Given the description of an element on the screen output the (x, y) to click on. 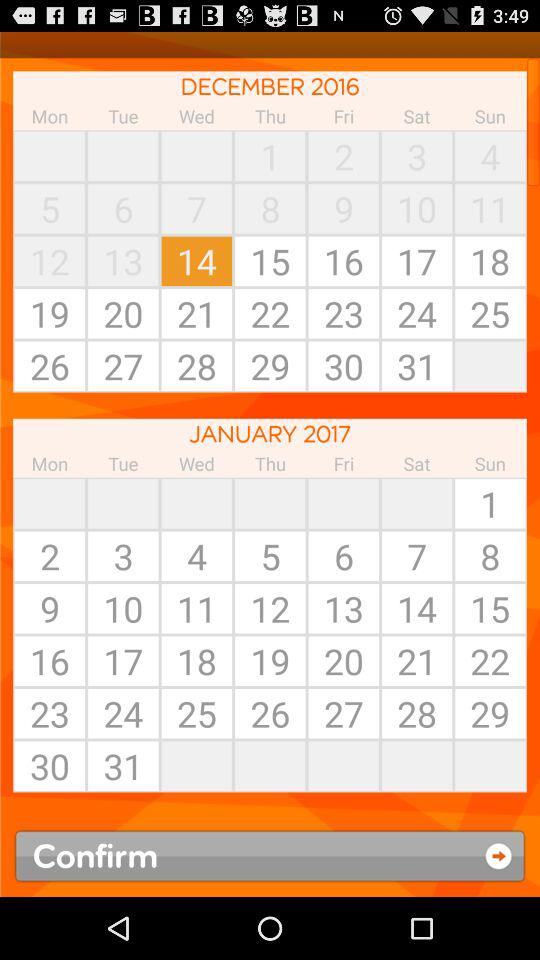
open item next to 26 icon (196, 765)
